Given the description of an element on the screen output the (x, y) to click on. 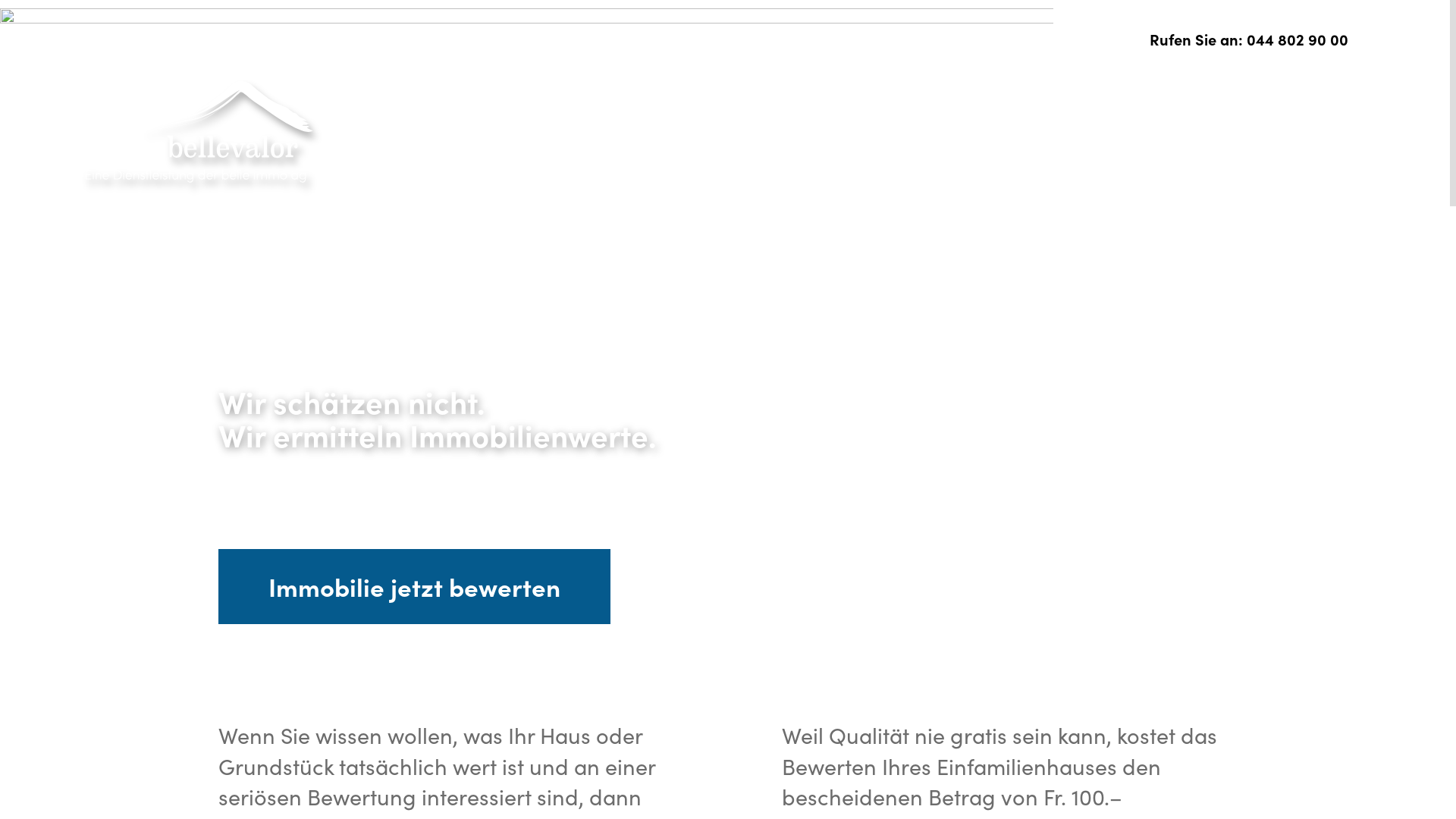
Immobilie jetzt bewerten Element type: text (414, 586)
